Given the description of an element on the screen output the (x, y) to click on. 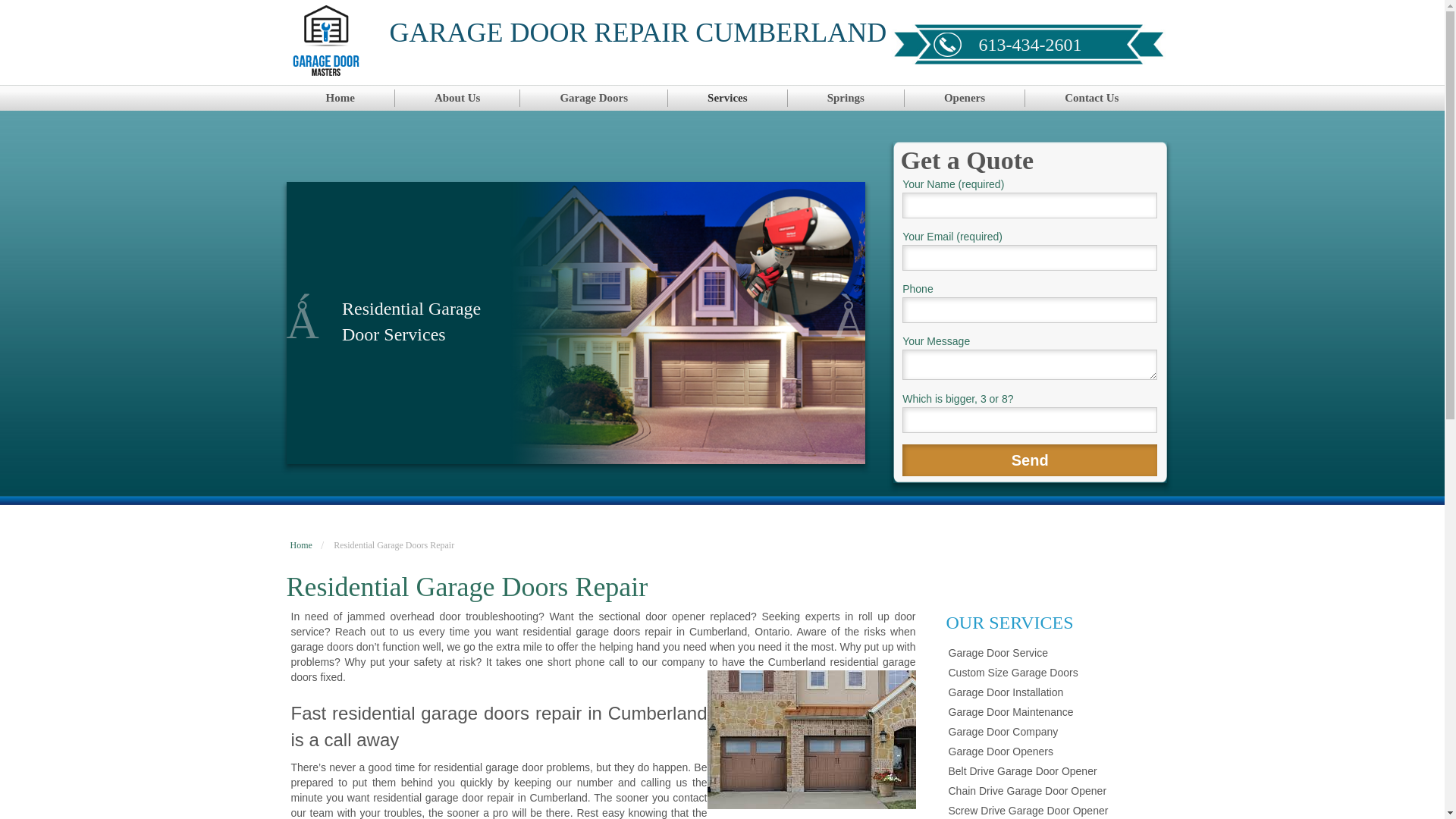
613-434-2601 (1029, 44)
Send (1029, 460)
